Given the description of an element on the screen output the (x, y) to click on. 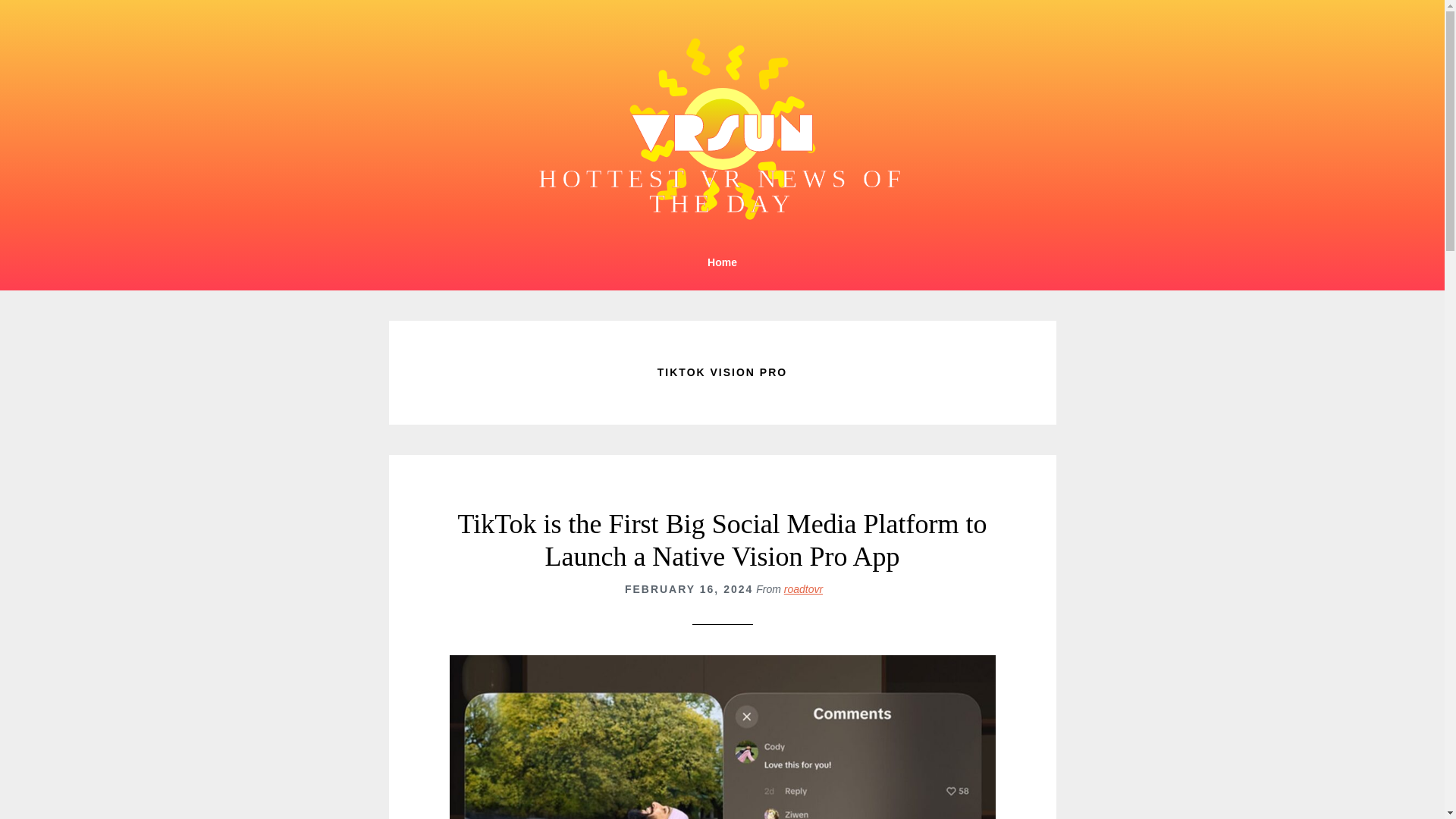
Home (722, 262)
roadtovr (803, 589)
